Given the description of an element on the screen output the (x, y) to click on. 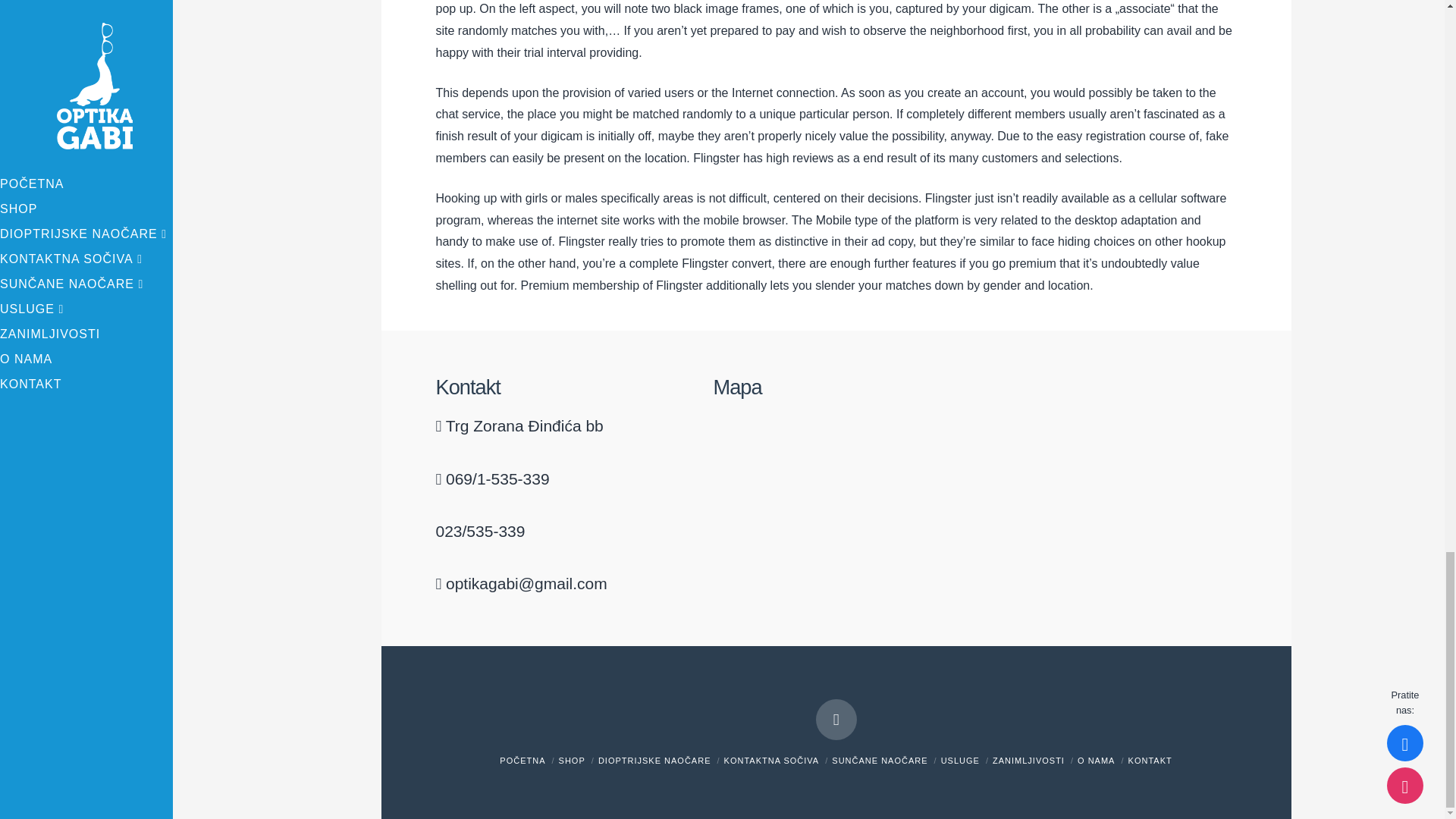
Facebook (836, 719)
